Given the description of an element on the screen output the (x, y) to click on. 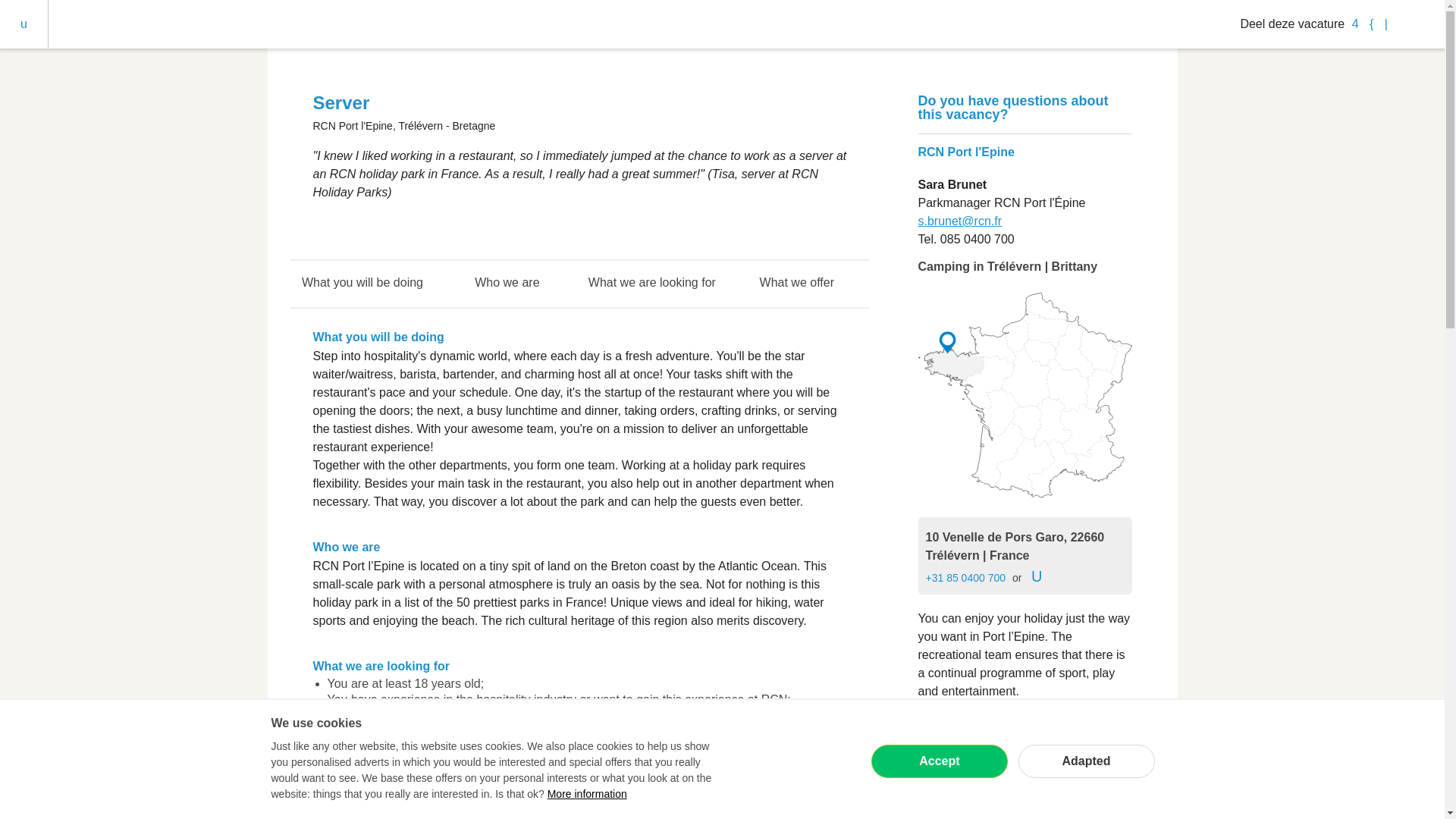
More information (587, 793)
More about RCN Port l'Epine (995, 730)
What we offer (796, 284)
epine (1024, 395)
Who we are (506, 284)
What you will be doing (361, 284)
What we are looking for (651, 284)
Accept (938, 761)
